Given the description of an element on the screen output the (x, y) to click on. 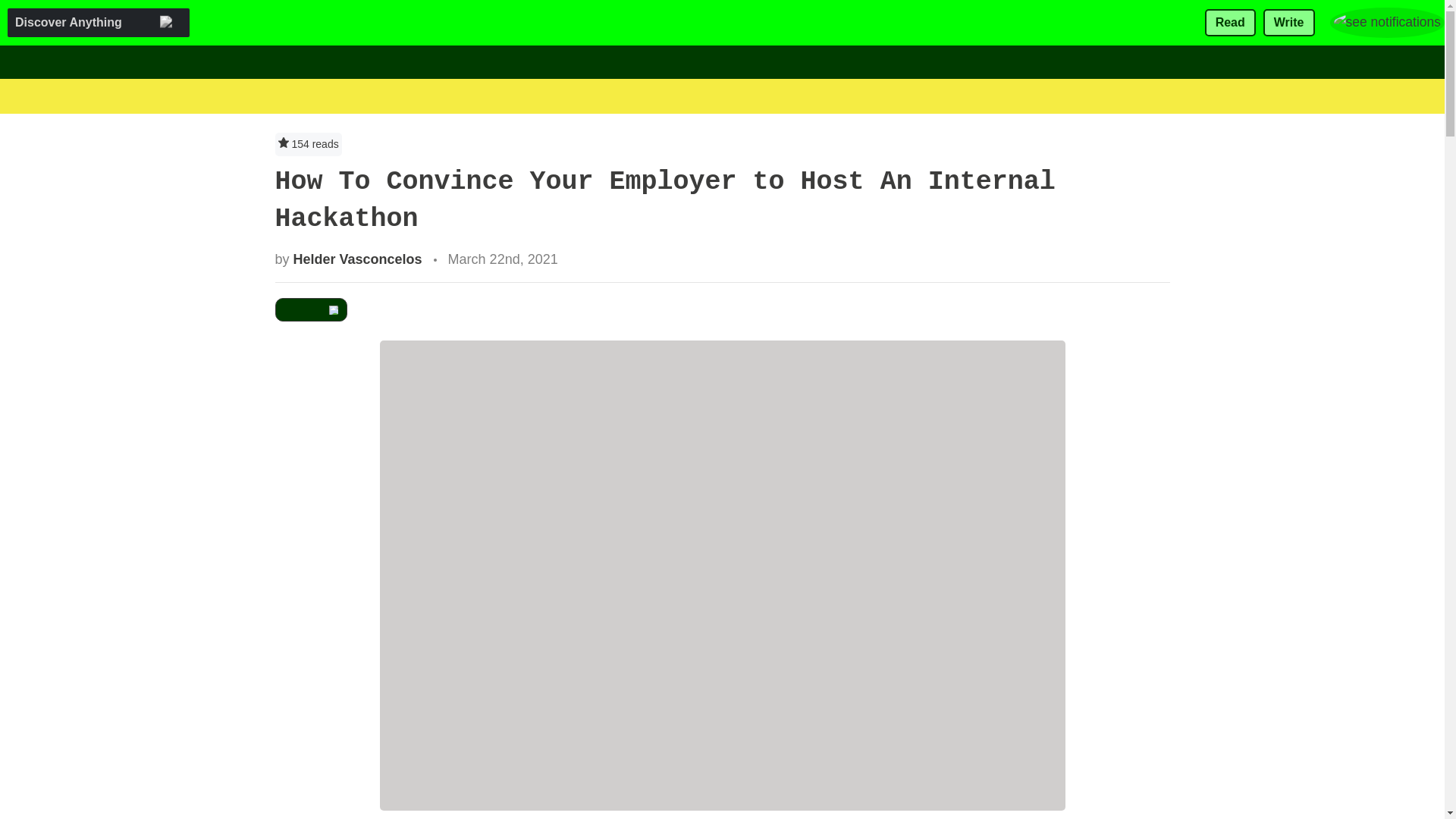
Read (1230, 22)
Helder Vasconcelos (358, 258)
Write (1288, 22)
